Given the description of an element on the screen output the (x, y) to click on. 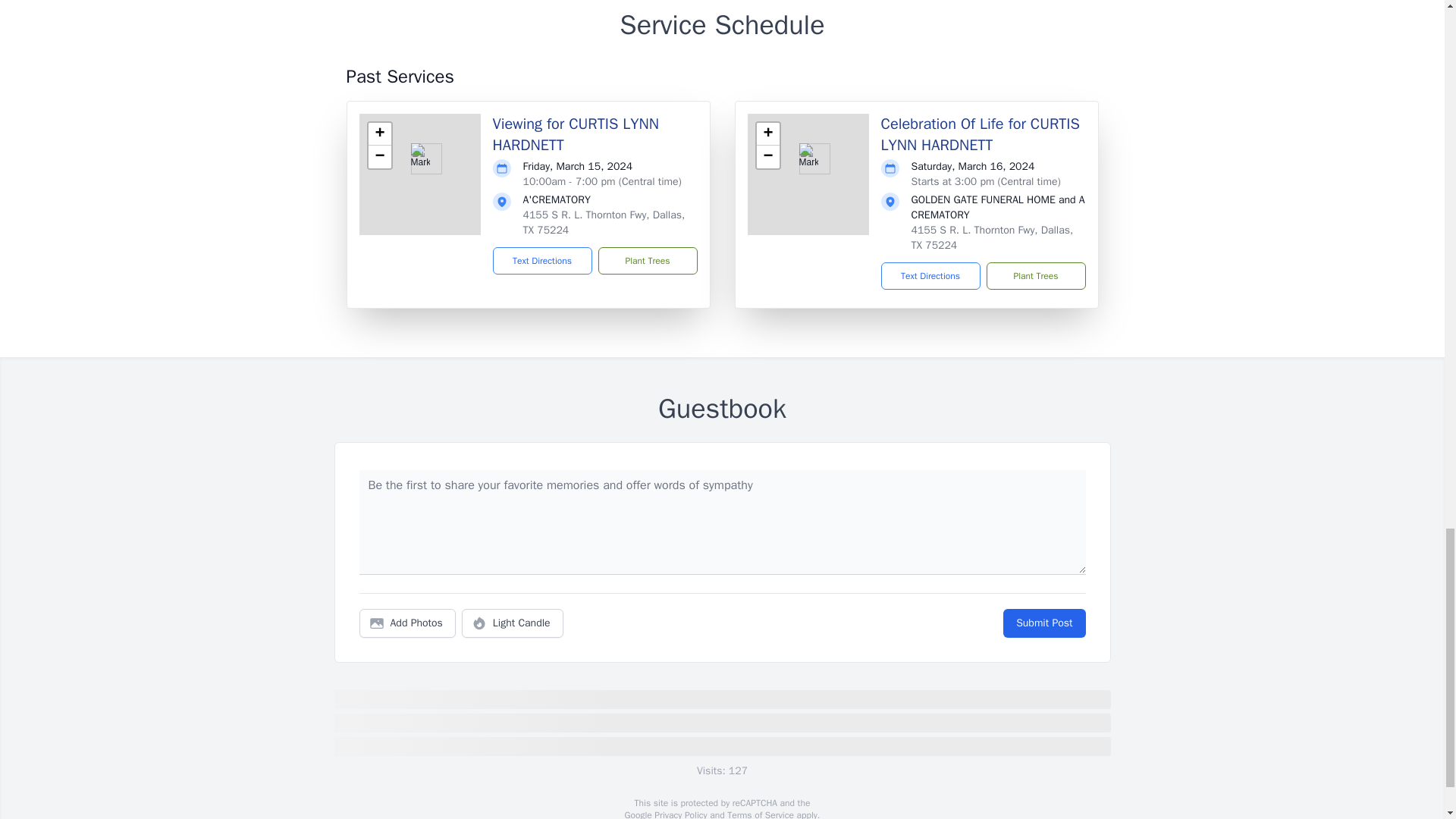
Zoom out (767, 156)
Plant Trees (646, 260)
Terms of Service (759, 814)
Privacy Policy (679, 814)
Add Photos (407, 623)
4155 S R. L. Thornton Fwy, Dallas, TX 75224 (603, 222)
Submit Post (1043, 623)
Zoom in (767, 133)
Light Candle (512, 623)
Plant Trees (1034, 275)
Text Directions (542, 260)
Zoom out (379, 156)
4155 S R. L. Thornton Fwy, Dallas, TX 75224 (992, 237)
Text Directions (929, 275)
Zoom in (379, 133)
